Given the description of an element on the screen output the (x, y) to click on. 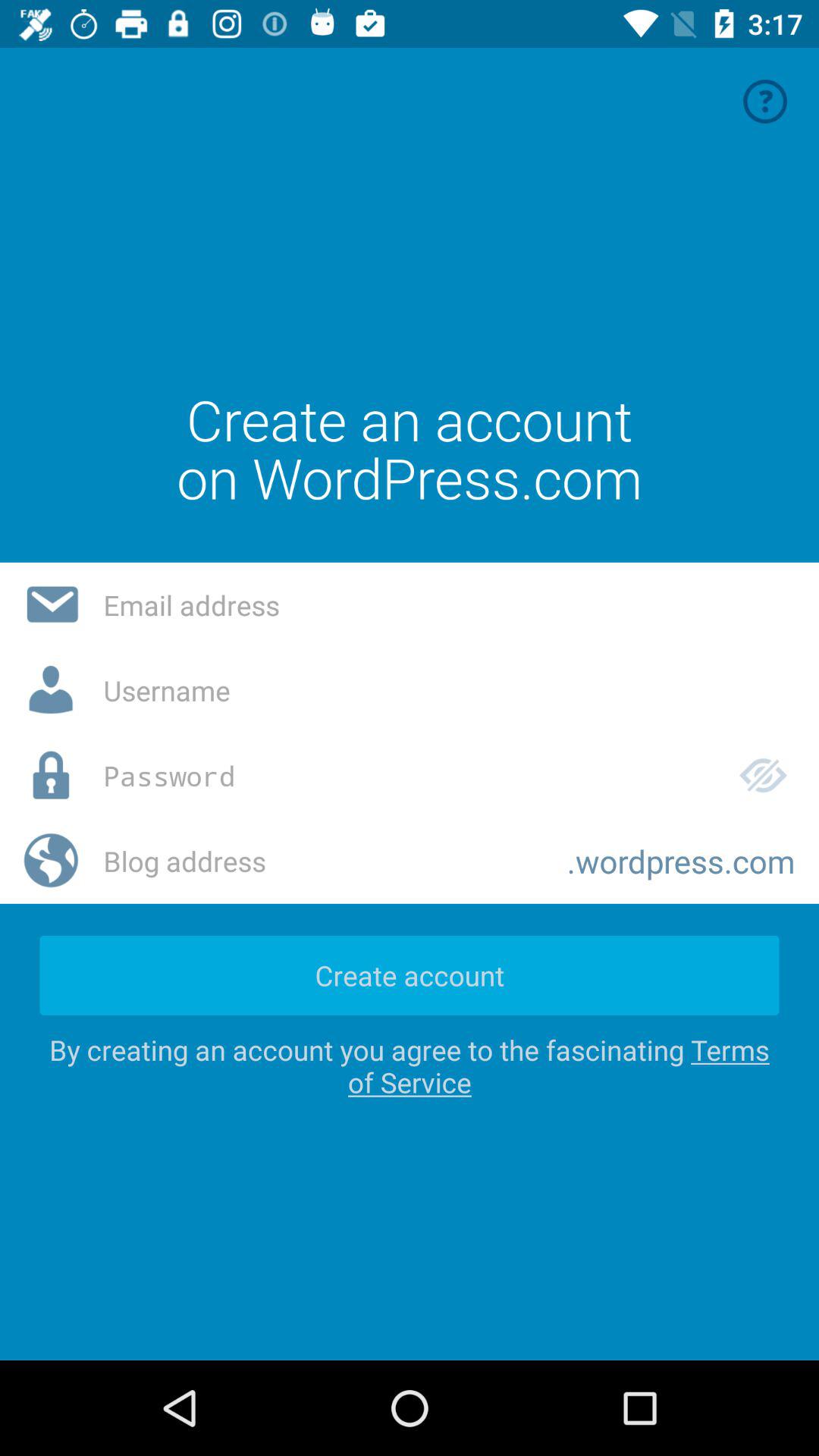
select the item above create an account (765, 101)
